Given the description of an element on the screen output the (x, y) to click on. 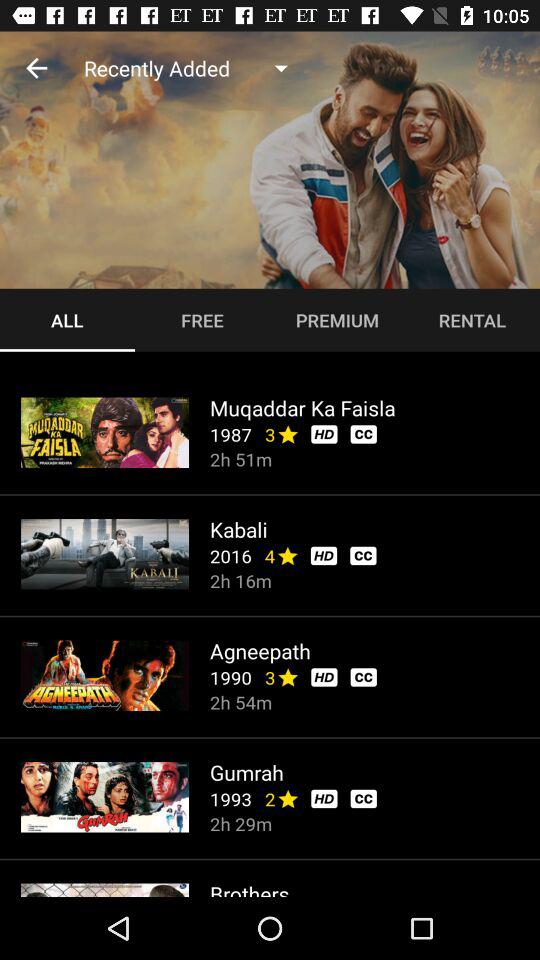
cc (362, 556)
premium (337, 320)
click on the image beside gumrah (105, 797)
click the drop down recently added (193, 68)
